Given the description of an element on the screen output the (x, y) to click on. 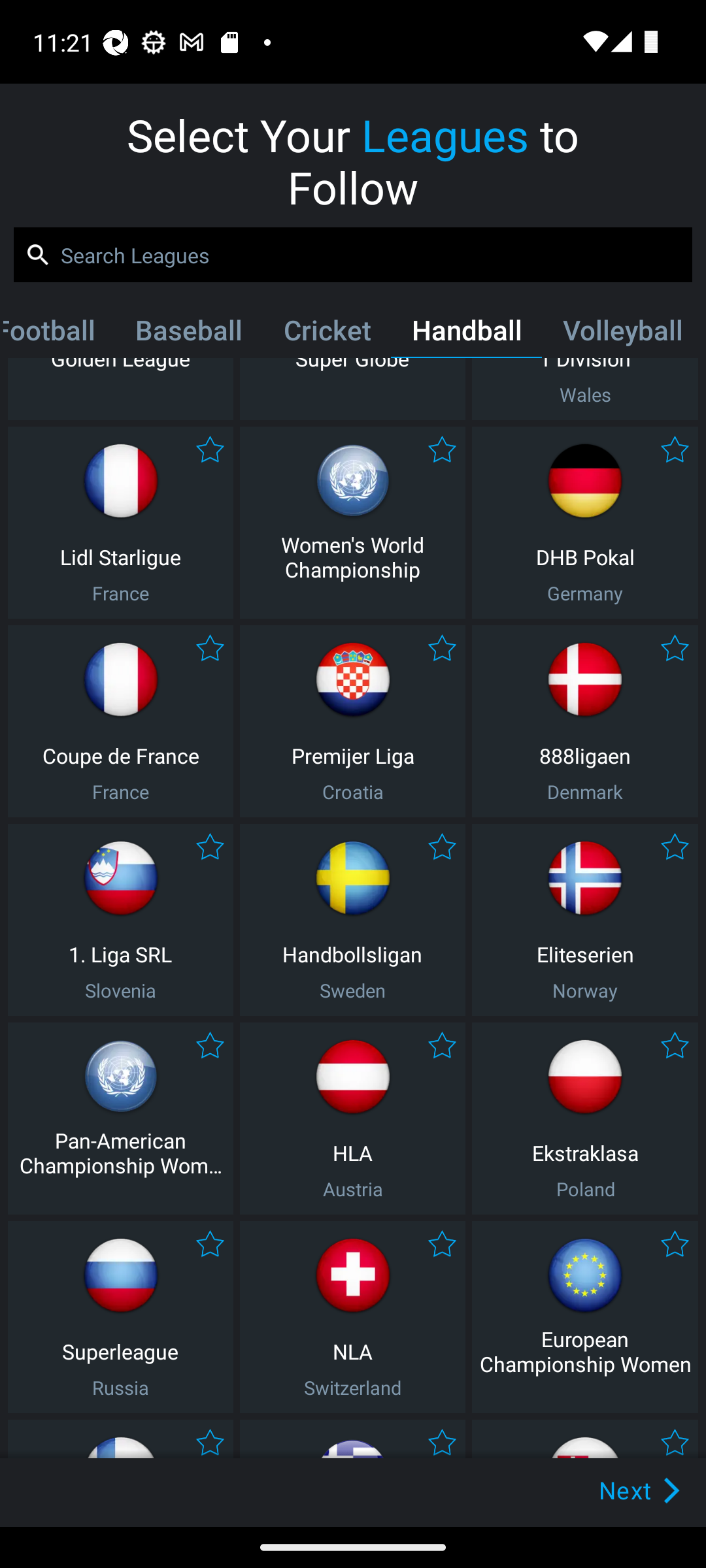
Search Leagues (352, 254)
A. Football (59, 333)
Baseball (188, 333)
Cricket (326, 333)
Handball (466, 333)
Volleyball (622, 333)
Lidl Starligue France (120, 522)
Women's World Championship (352, 522)
DHB Pokal Germany (585, 522)
Coupe de France France (120, 720)
Premijer Liga Croatia (352, 720)
888ligaen Denmark (585, 720)
1. Liga SRL Slovenia (120, 919)
Handbollsligan Sweden (352, 919)
Eliteserien Norway (585, 919)
Pan-American Championship Women (120, 1118)
HLA Austria (352, 1118)
Ekstraklasa Poland (585, 1118)
Superleague Russia (120, 1316)
NLA Switzerland (352, 1316)
European Championship Women (585, 1316)
Next (609, 1489)
